Given the description of an element on the screen output the (x, y) to click on. 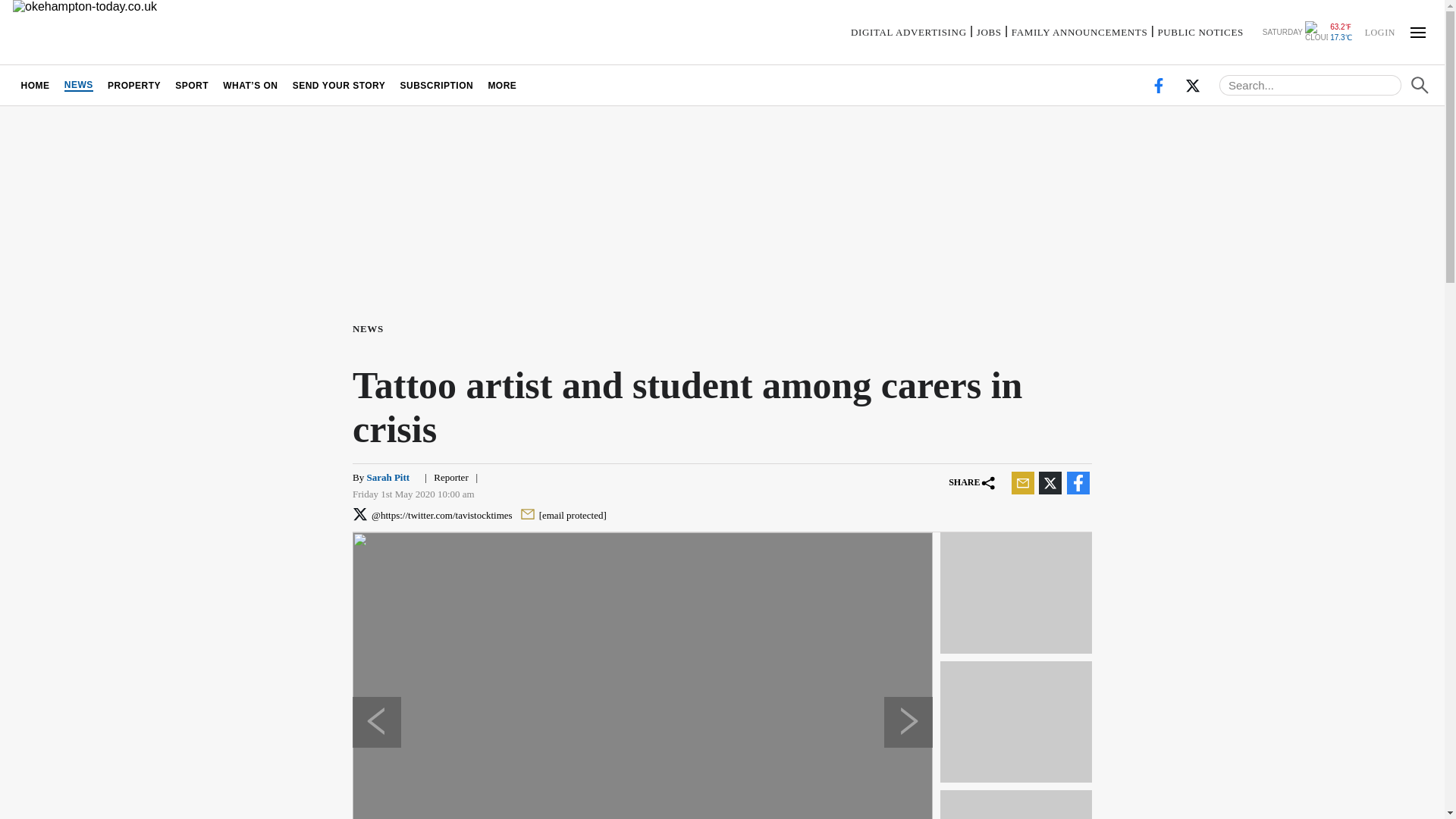
SEND YOUR STORY (339, 85)
PROPERTY (133, 85)
LOGIN (1379, 31)
MORE (502, 85)
NEWS (371, 328)
PUBLIC NOTICES (1200, 32)
HOME (34, 85)
SPORT (191, 85)
NEWS (78, 85)
Sarah Pitt (387, 477)
